Given the description of an element on the screen output the (x, y) to click on. 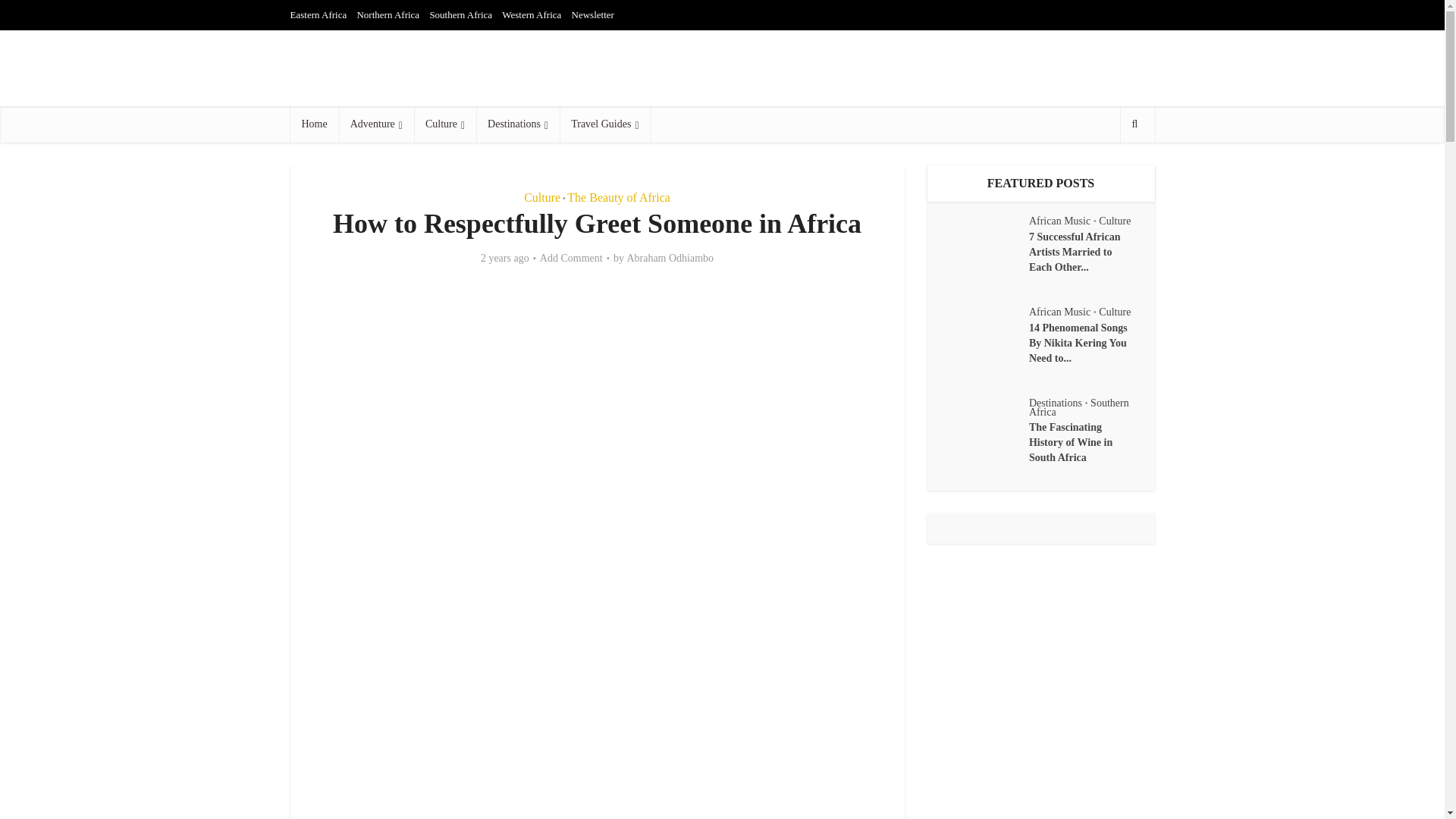
Eastern Africa (317, 14)
Northern Africa (387, 14)
Culture (444, 124)
Southern Africa (460, 14)
Add Comment (571, 258)
Culture (542, 196)
Western Africa (531, 14)
Abraham Odhiambo (669, 258)
Destinations (517, 124)
Travel Guides (604, 124)
Home (313, 124)
Newsletter (593, 14)
Adventure (376, 124)
The Beauty of Africa (618, 196)
